Given the description of an element on the screen output the (x, y) to click on. 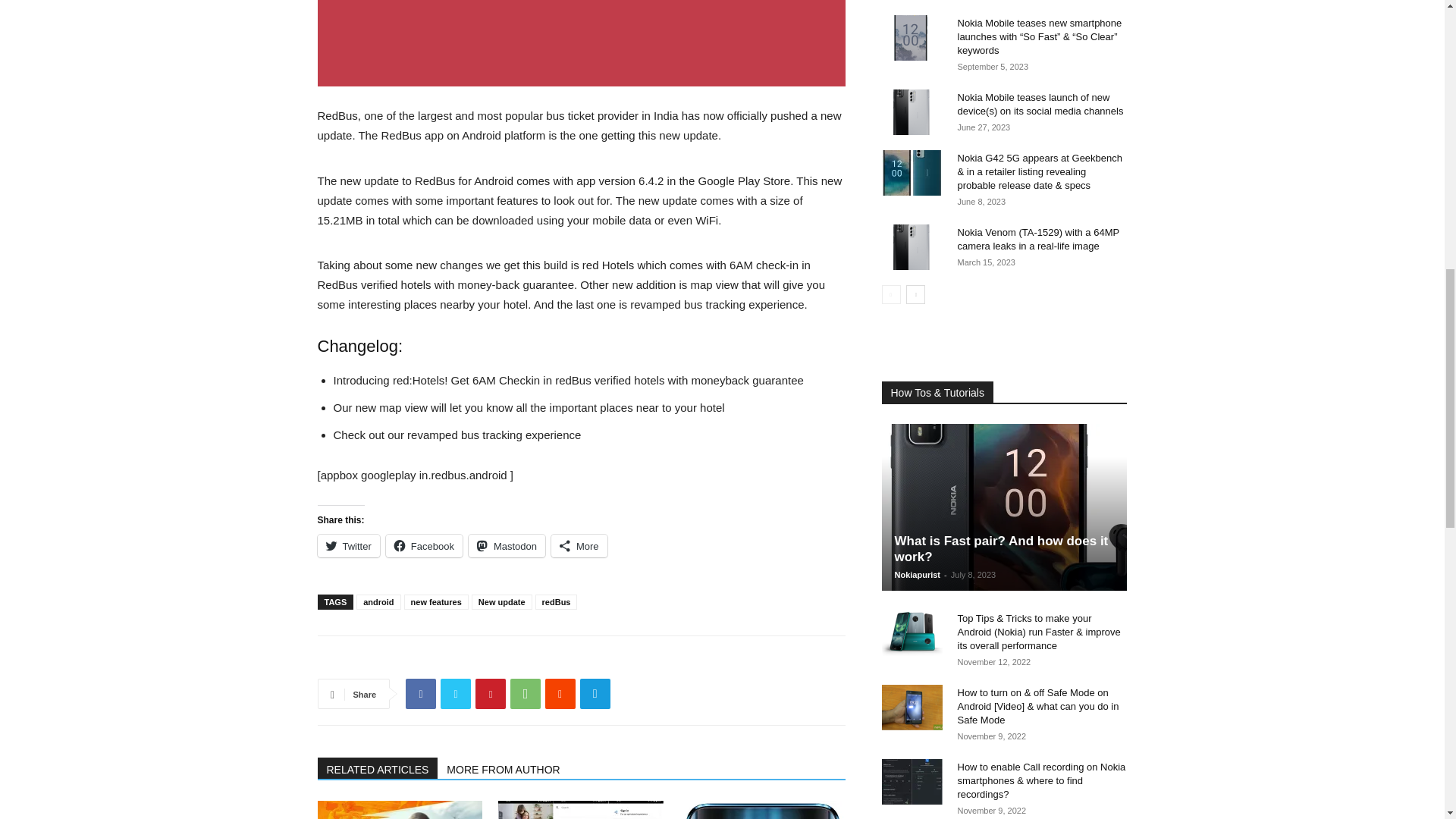
Click to share on Facebook (424, 545)
RedBus (580, 43)
Click to share on Twitter (347, 545)
Click to share on Mastodon (506, 545)
